Given the description of an element on the screen output the (x, y) to click on. 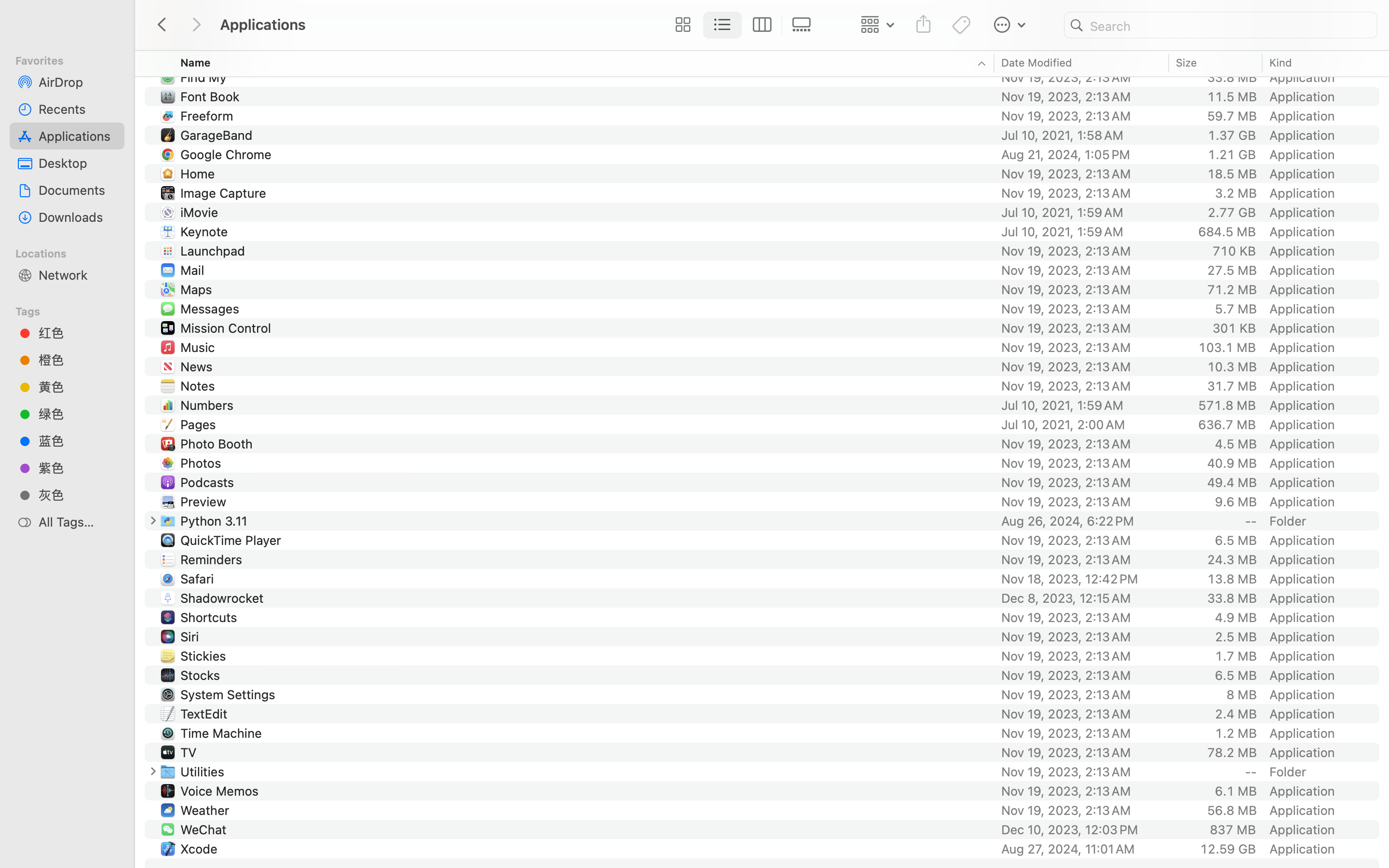
10.3 MB Element type: AXStaticText (1231, 366)
12.59 GB Element type: AXStaticText (1227, 848)
Stickies Element type: AXTextField (205, 655)
TextEdit Element type: AXTextField (205, 713)
蓝色 Element type: AXStaticText (77, 440)
